Given the description of an element on the screen output the (x, y) to click on. 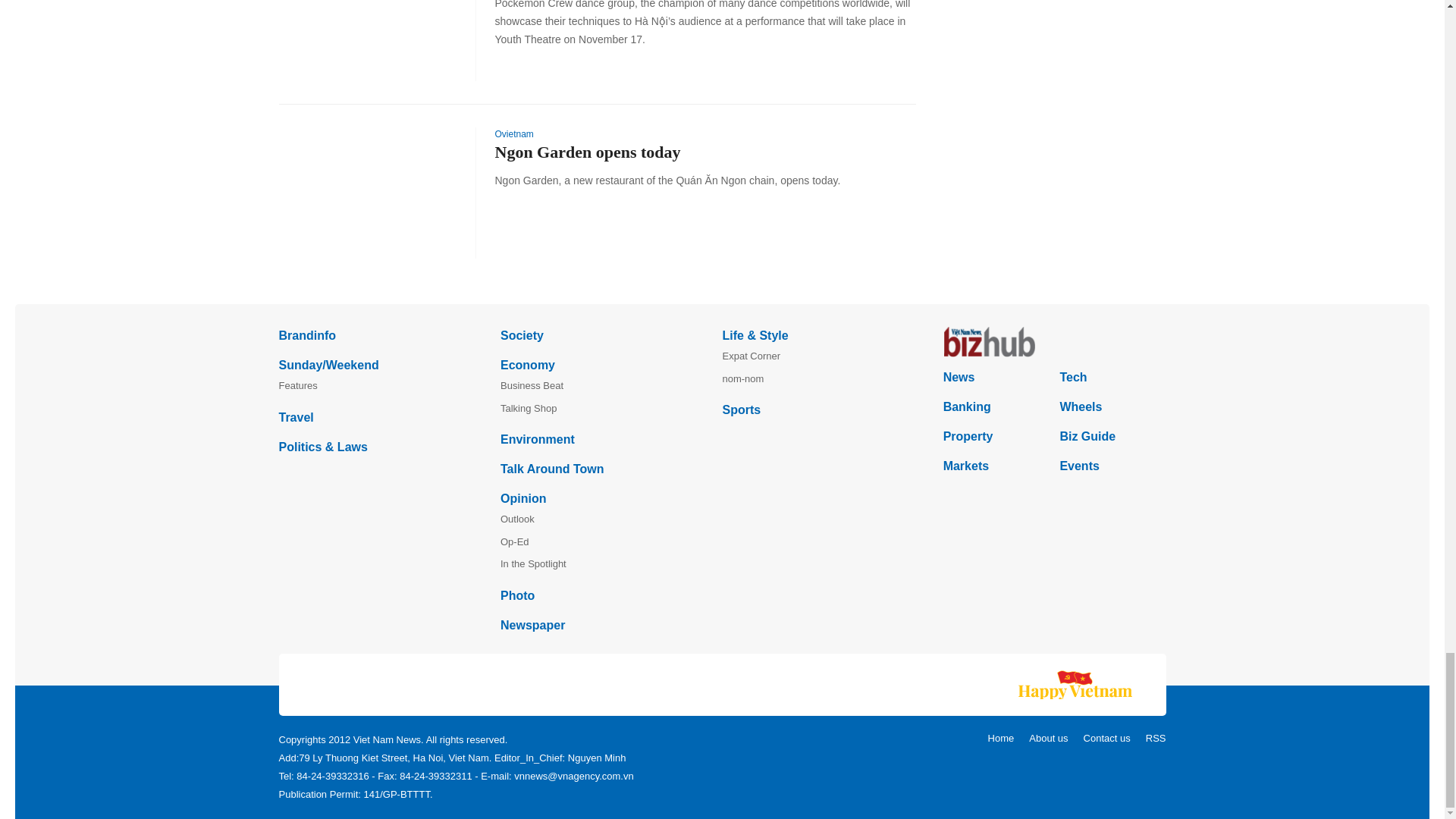
bizhub (1054, 341)
